Given the description of an element on the screen output the (x, y) to click on. 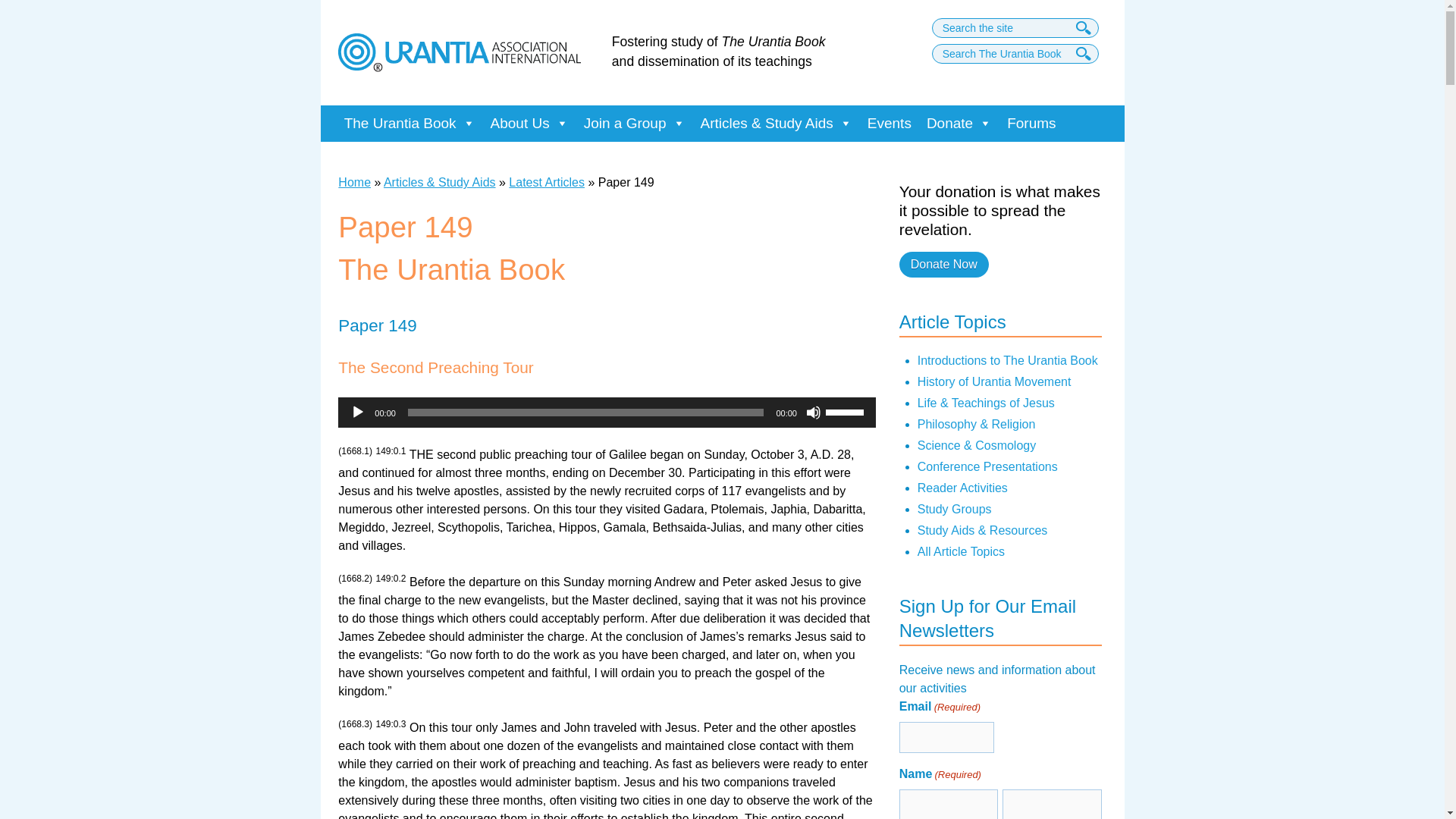
Join a Group (634, 123)
Play (357, 412)
The Urantia Book (409, 123)
Mute (813, 412)
About Us (529, 123)
